Given the description of an element on the screen output the (x, y) to click on. 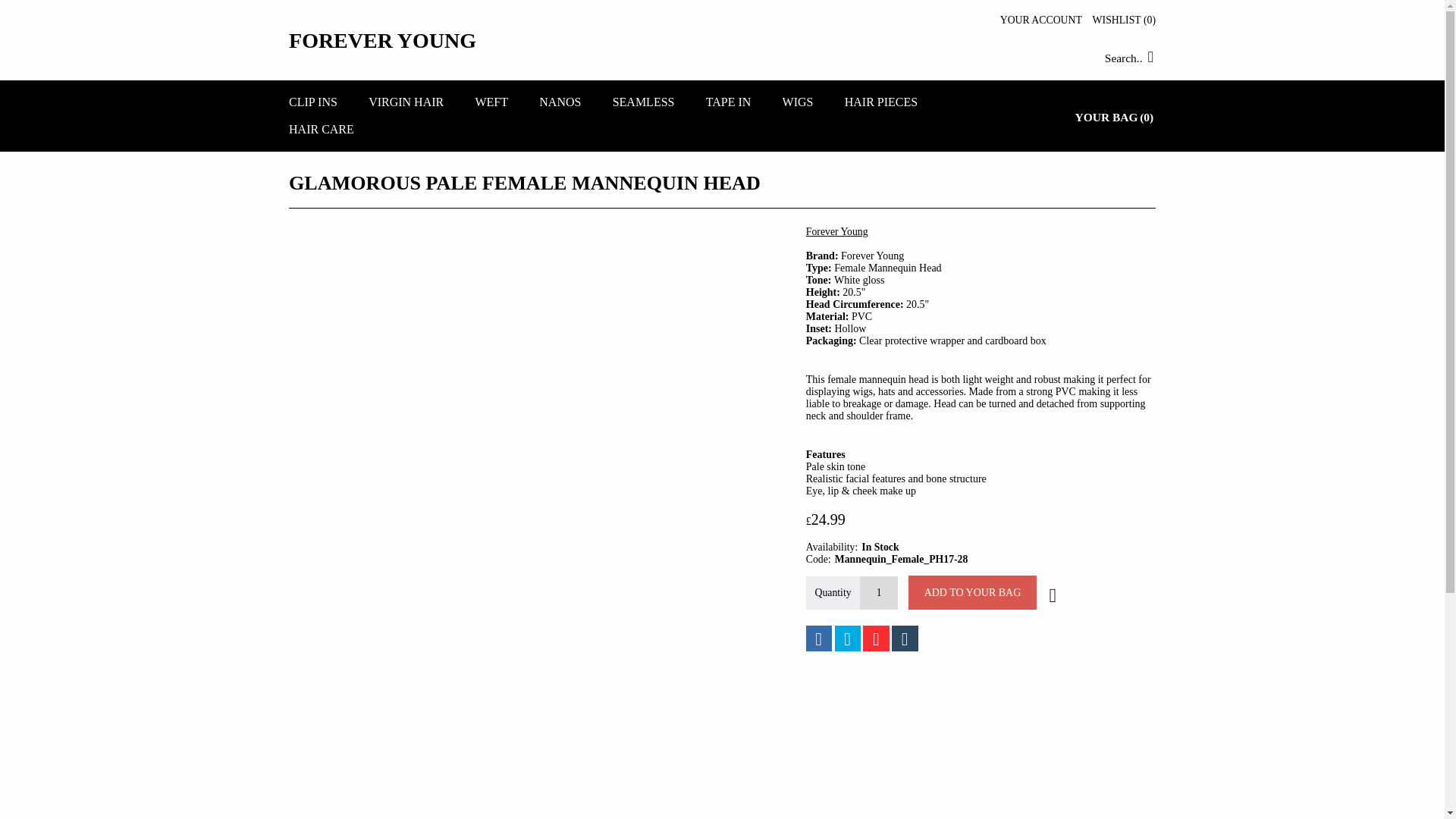
1 (879, 592)
